Given the description of an element on the screen output the (x, y) to click on. 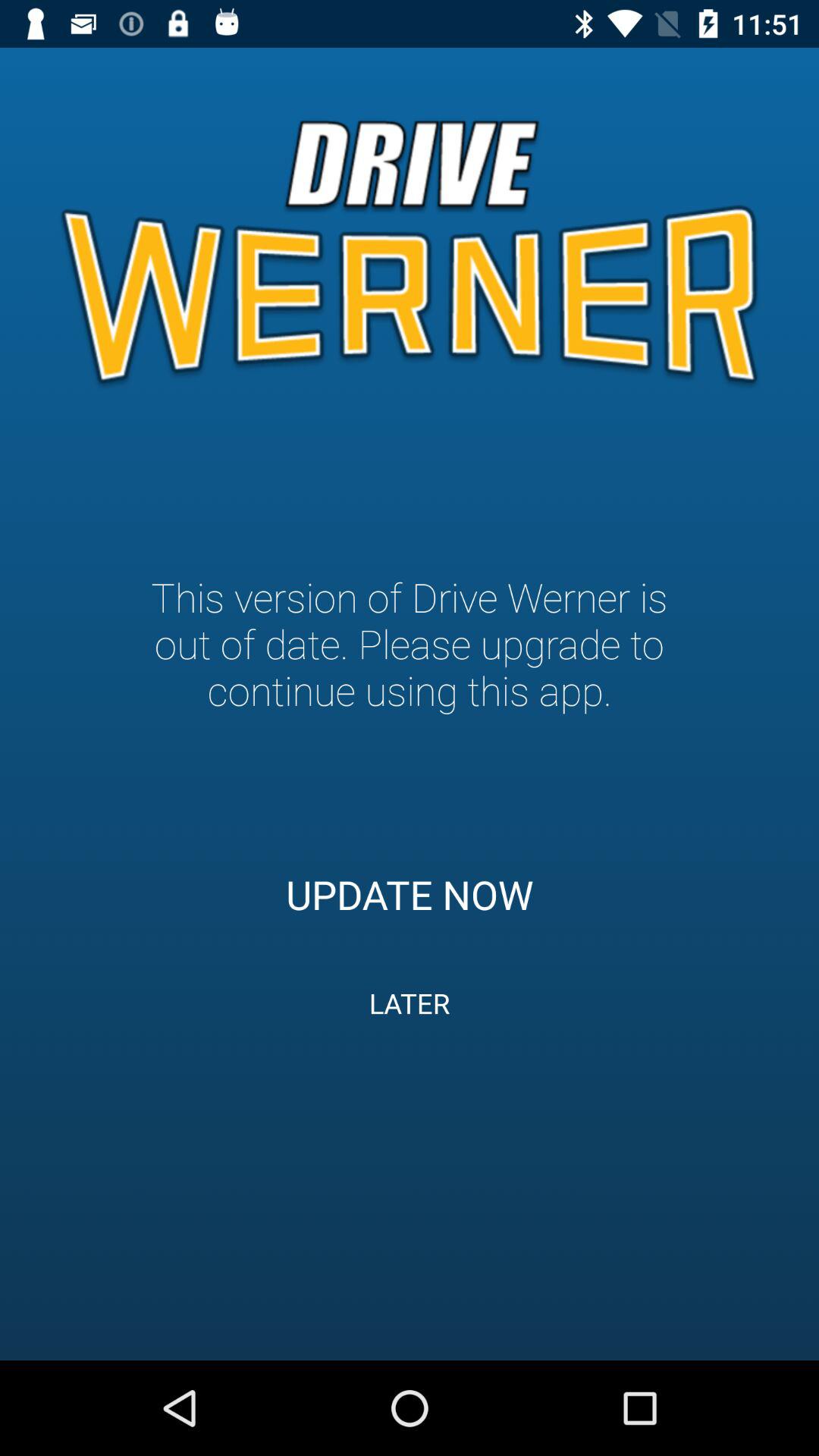
turn on later (409, 1002)
